Given the description of an element on the screen output the (x, y) to click on. 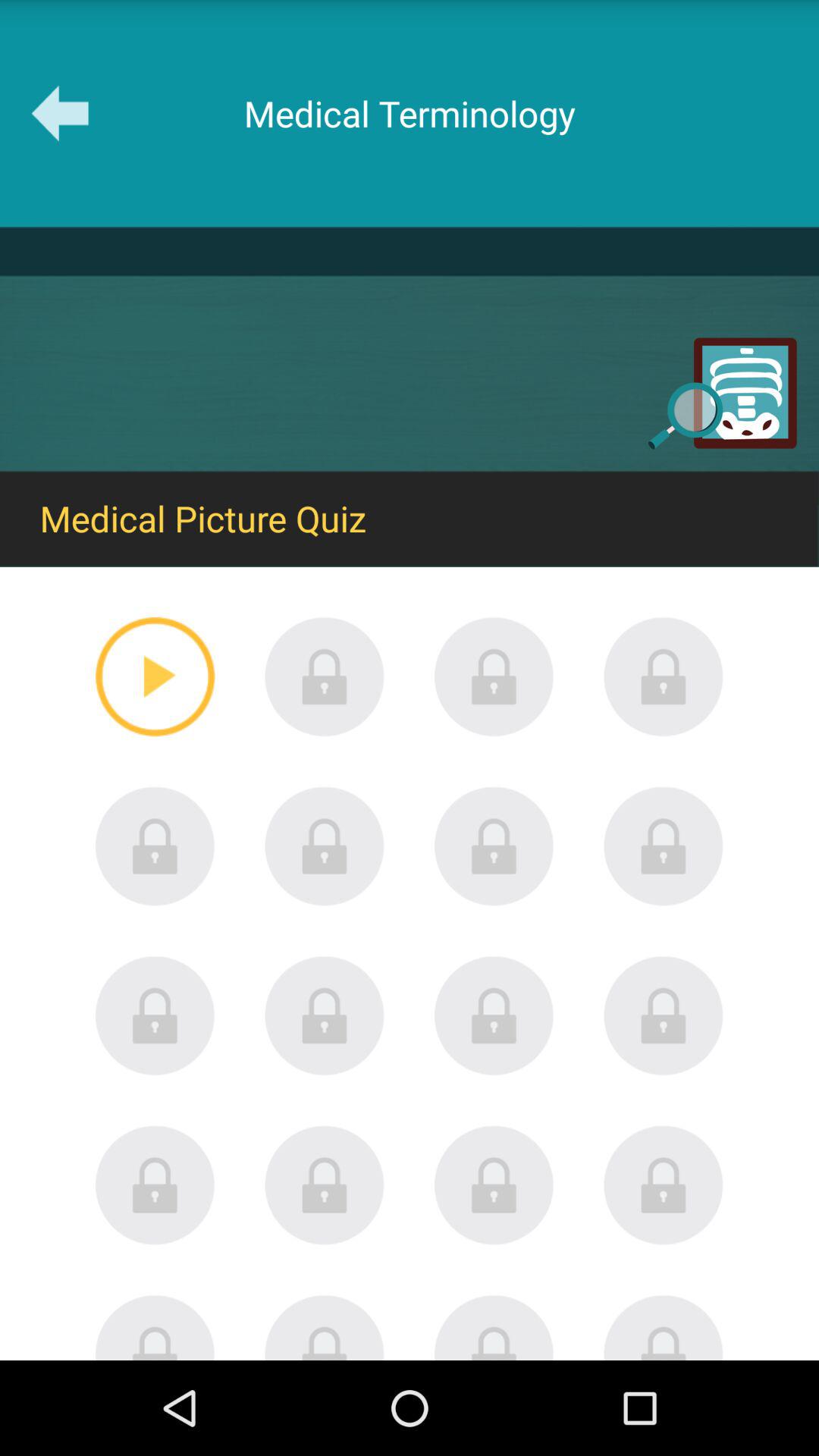
locked item (663, 1184)
